Given the description of an element on the screen output the (x, y) to click on. 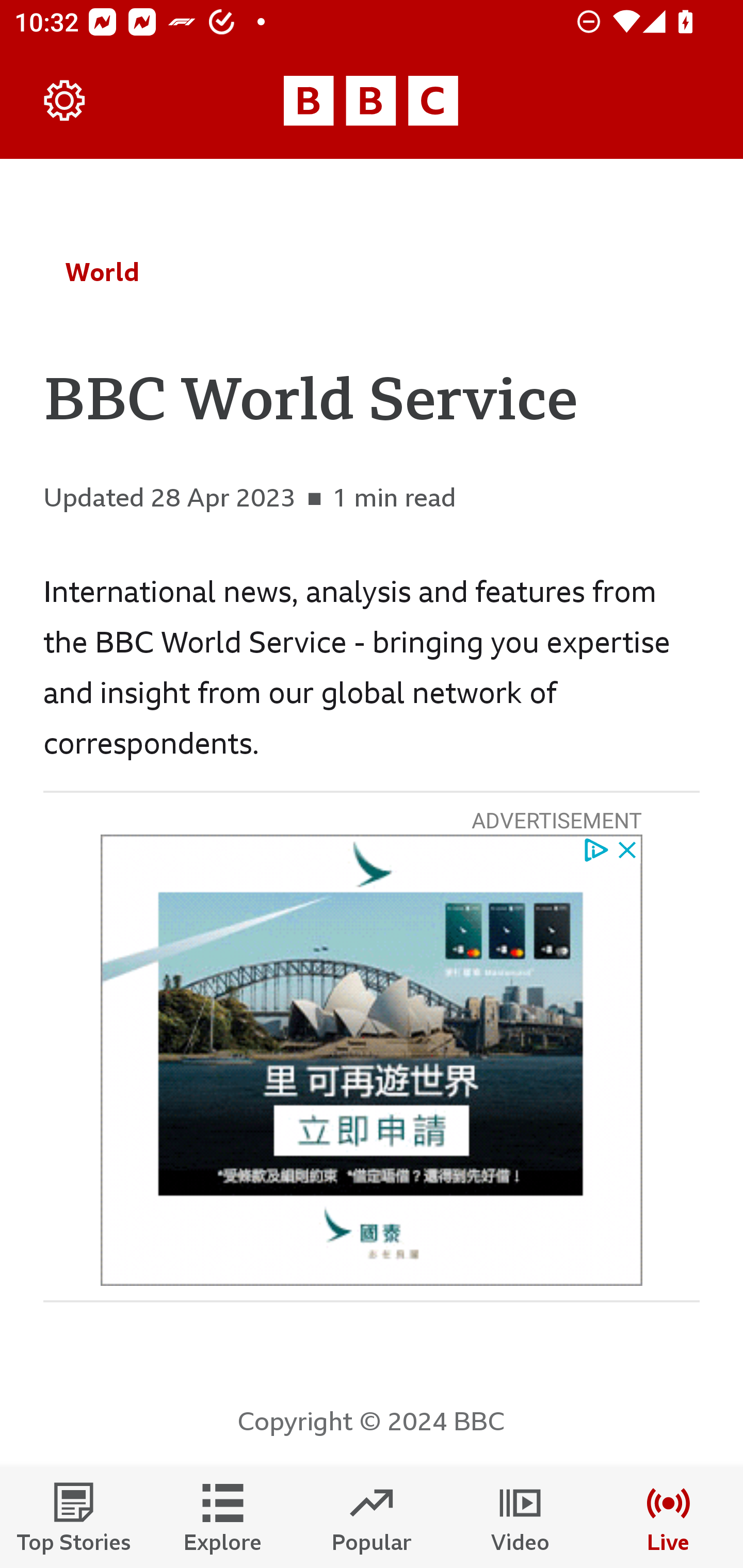
Settings (64, 100)
World (102, 271)
Top Stories (74, 1517)
Explore (222, 1517)
Popular (371, 1517)
Video (519, 1517)
